Given the description of an element on the screen output the (x, y) to click on. 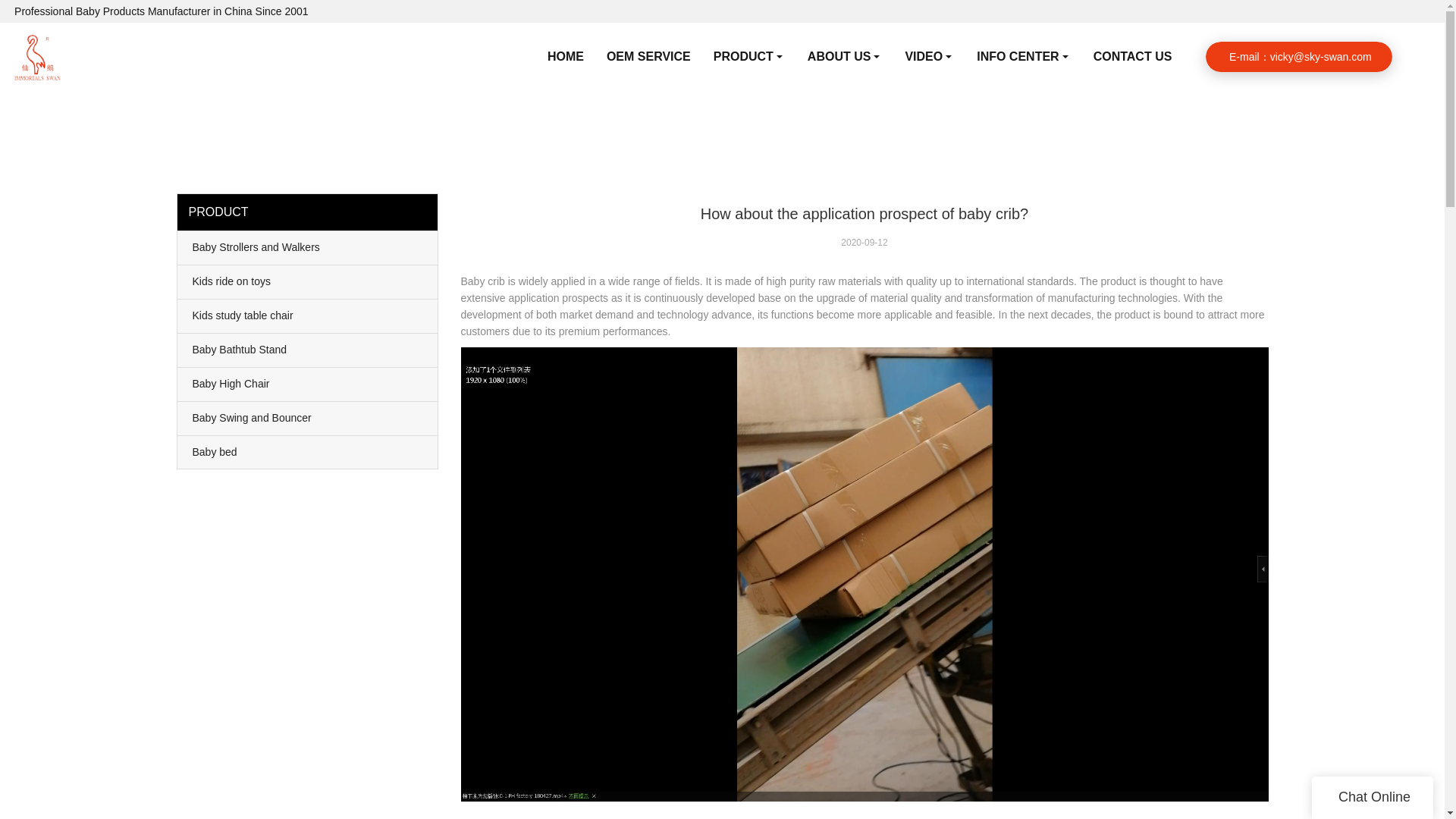
Baby Strollers and Walkers (307, 247)
Baby Swing and Bouncer (307, 418)
Kids ride on toys (307, 281)
INFO CENTER (1023, 56)
OEM SERVICE (648, 56)
Kids study table chair (307, 315)
PRODUCT (748, 56)
ABOUT US (844, 56)
CONTACT US (1132, 56)
Baby High Chair (307, 384)
Baby bed (307, 451)
VIDEO (929, 56)
Baby Bathtub Stand (307, 349)
